Given the description of an element on the screen output the (x, y) to click on. 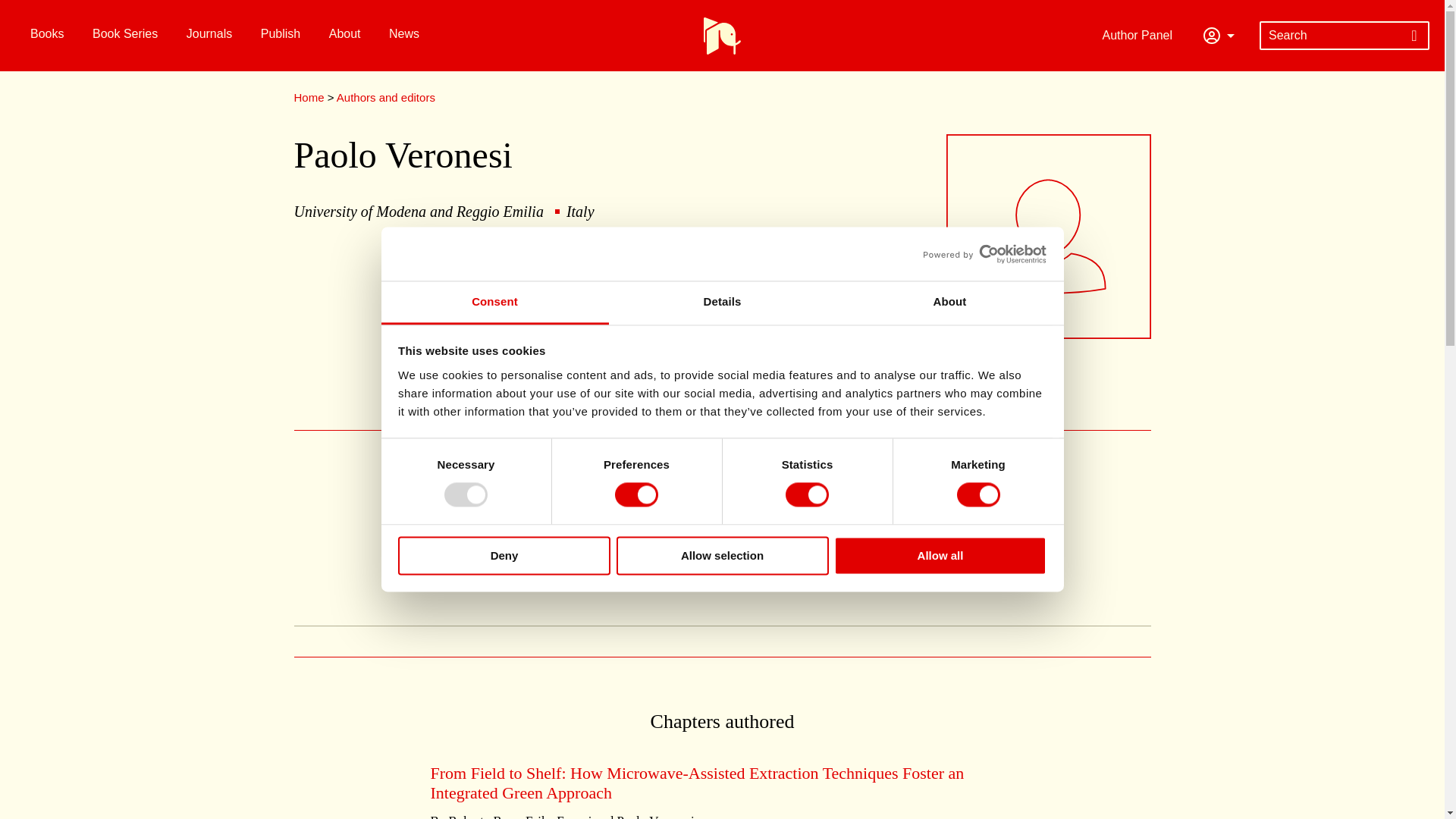
About (948, 302)
Consent (494, 302)
Details (721, 302)
